Given the description of an element on the screen output the (x, y) to click on. 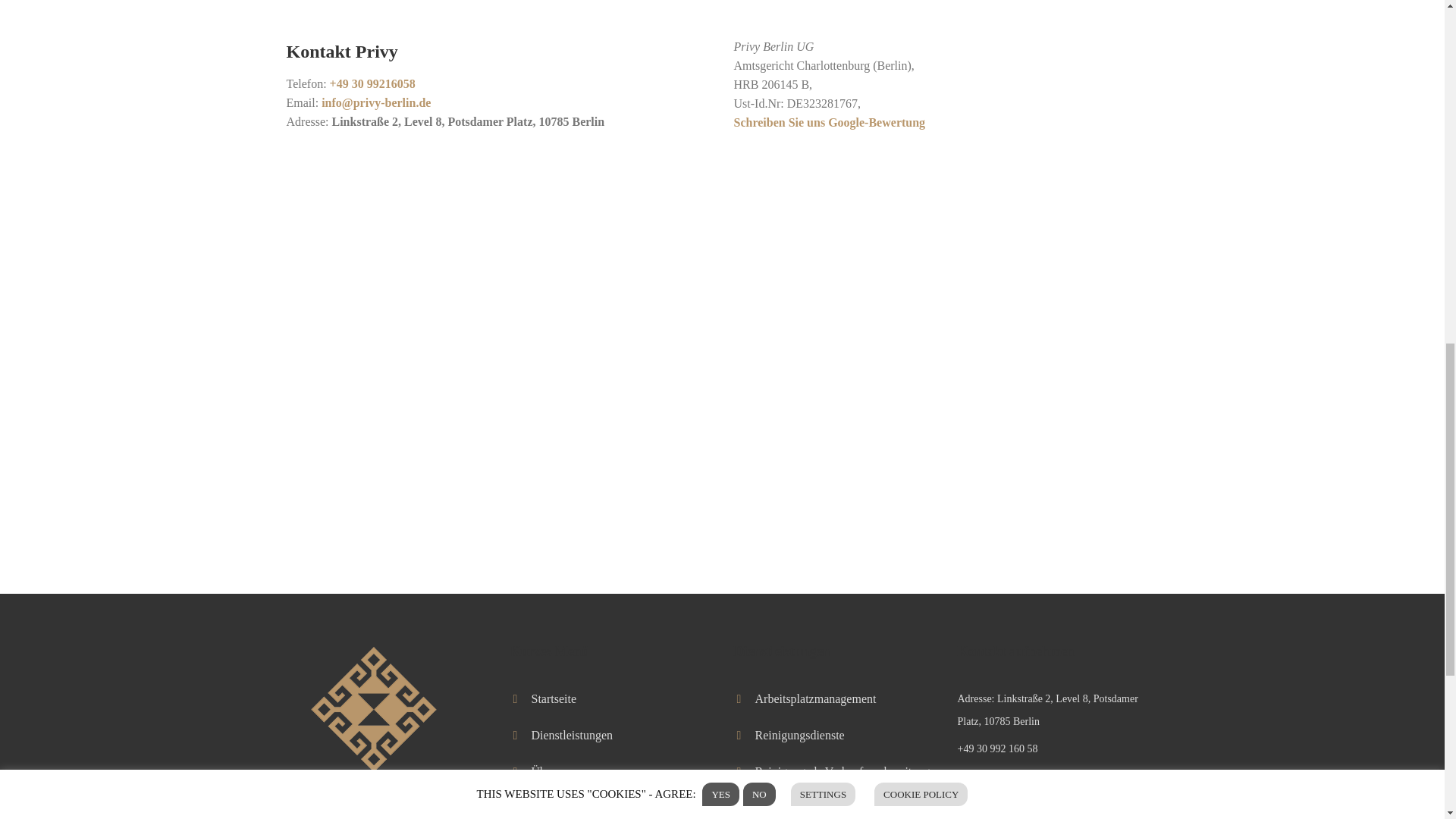
Dienstleistungen (571, 735)
Spezialisierte Dienste (807, 817)
Schreiben Sie uns Google-Bewertung (829, 122)
Arbeitsplatzmanagement (815, 698)
Startseite (553, 698)
Empfehlungen (566, 807)
Reinigungsdienste (799, 735)
